Given the description of an element on the screen output the (x, y) to click on. 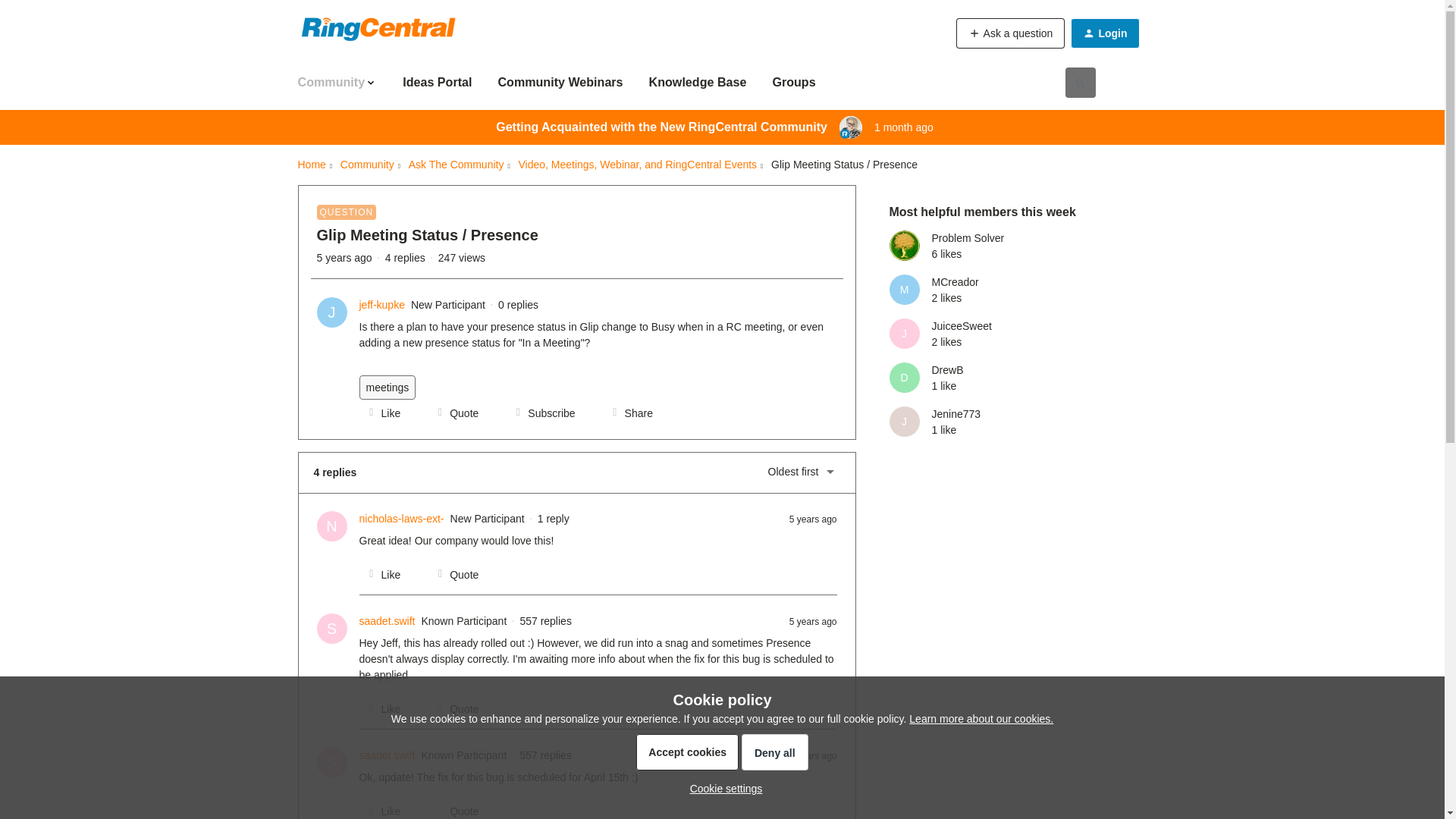
To homepage (1111, 26)
saadet.swift (386, 621)
Community (337, 82)
Ideas Portal (437, 81)
Knowledge Base (697, 81)
J (332, 312)
nicholas-laws-ext- (401, 519)
Video, Meetings, Webinar, and RingCentral Events (637, 164)
Ask a question (1010, 33)
Home (310, 164)
saadet.swift (386, 755)
4 replies (405, 257)
Ask a question (1010, 33)
Login (1104, 33)
Groups (793, 81)
